Given the description of an element on the screen output the (x, y) to click on. 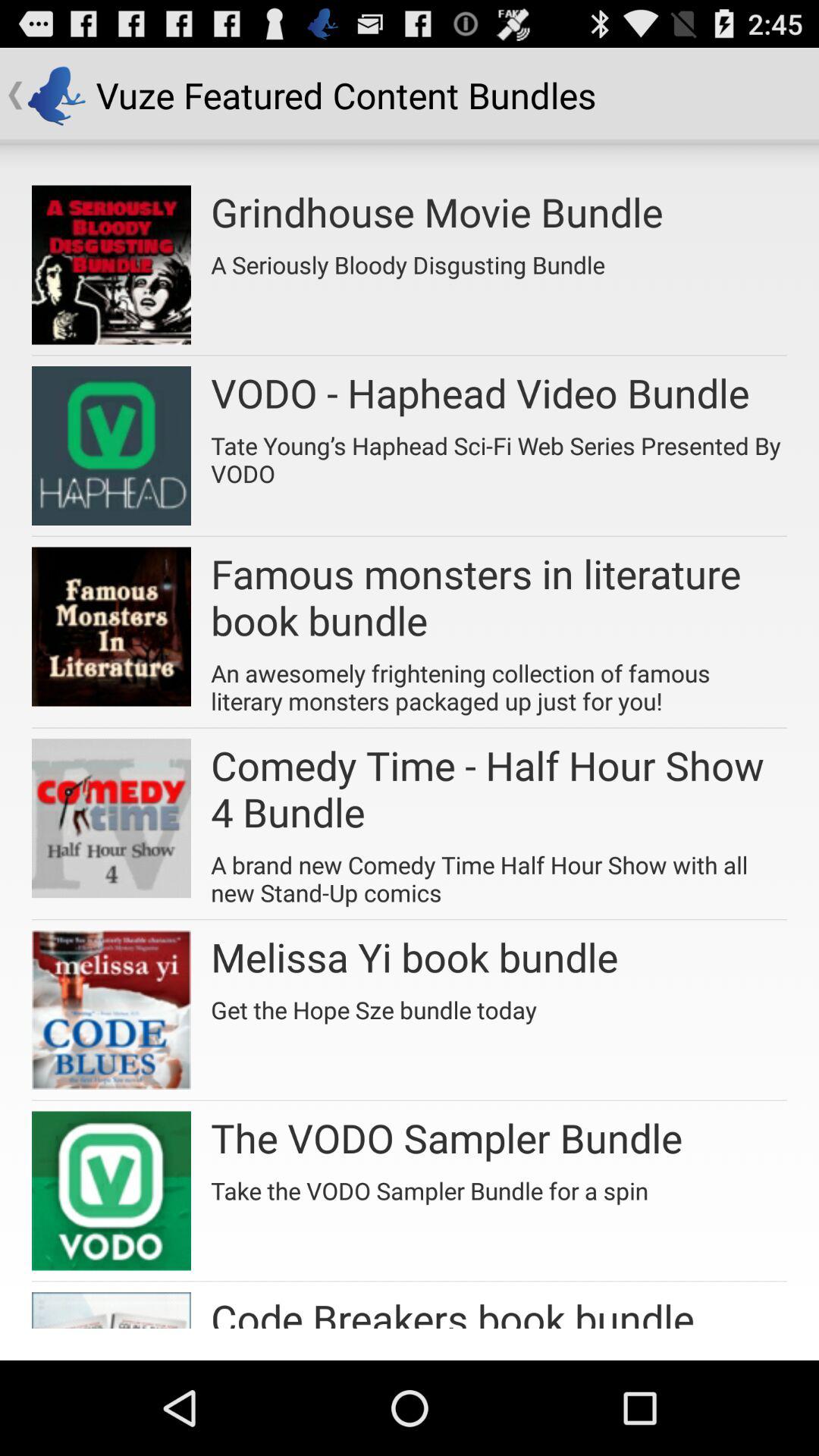
click on the image which is left side of the text vuze featured content bundles (55, 95)
first image in the list (110, 265)
click on the fifth image from top (110, 1009)
click on the image at left bottom (110, 1310)
select the fourth image from the list (110, 818)
